Given the description of an element on the screen output the (x, y) to click on. 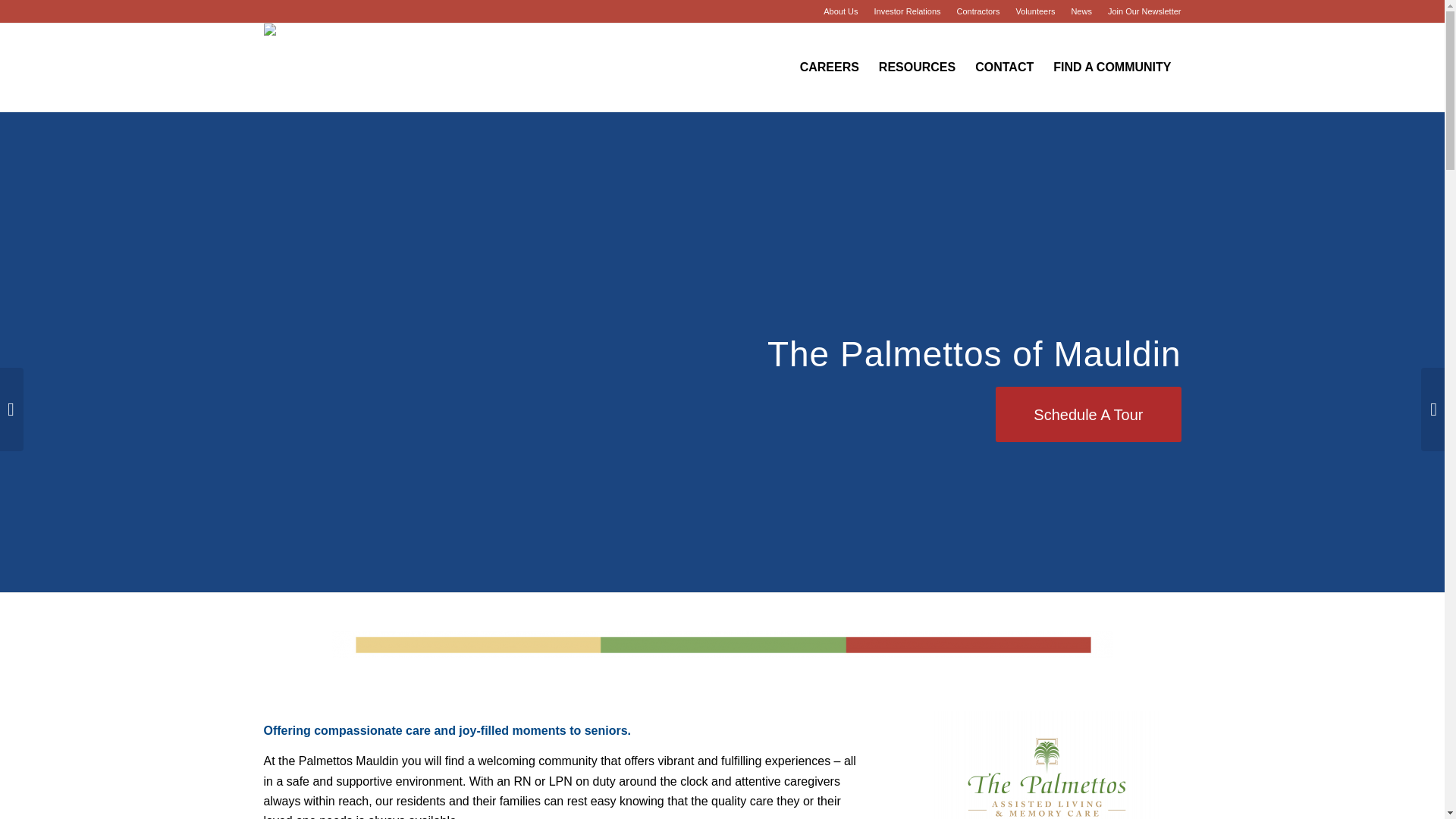
Contractors (978, 11)
NHC Logo (309, 38)
Schedule A Tour (1087, 414)
News (1081, 11)
Volunteers (1034, 11)
RESOURCES (917, 67)
NHC Logo (309, 67)
Join Our Newsletter (1144, 11)
nhc-care copy (722, 644)
The Palmettos 10 YR Anniv Logo Concept - GOLD (1046, 765)
